Given the description of an element on the screen output the (x, y) to click on. 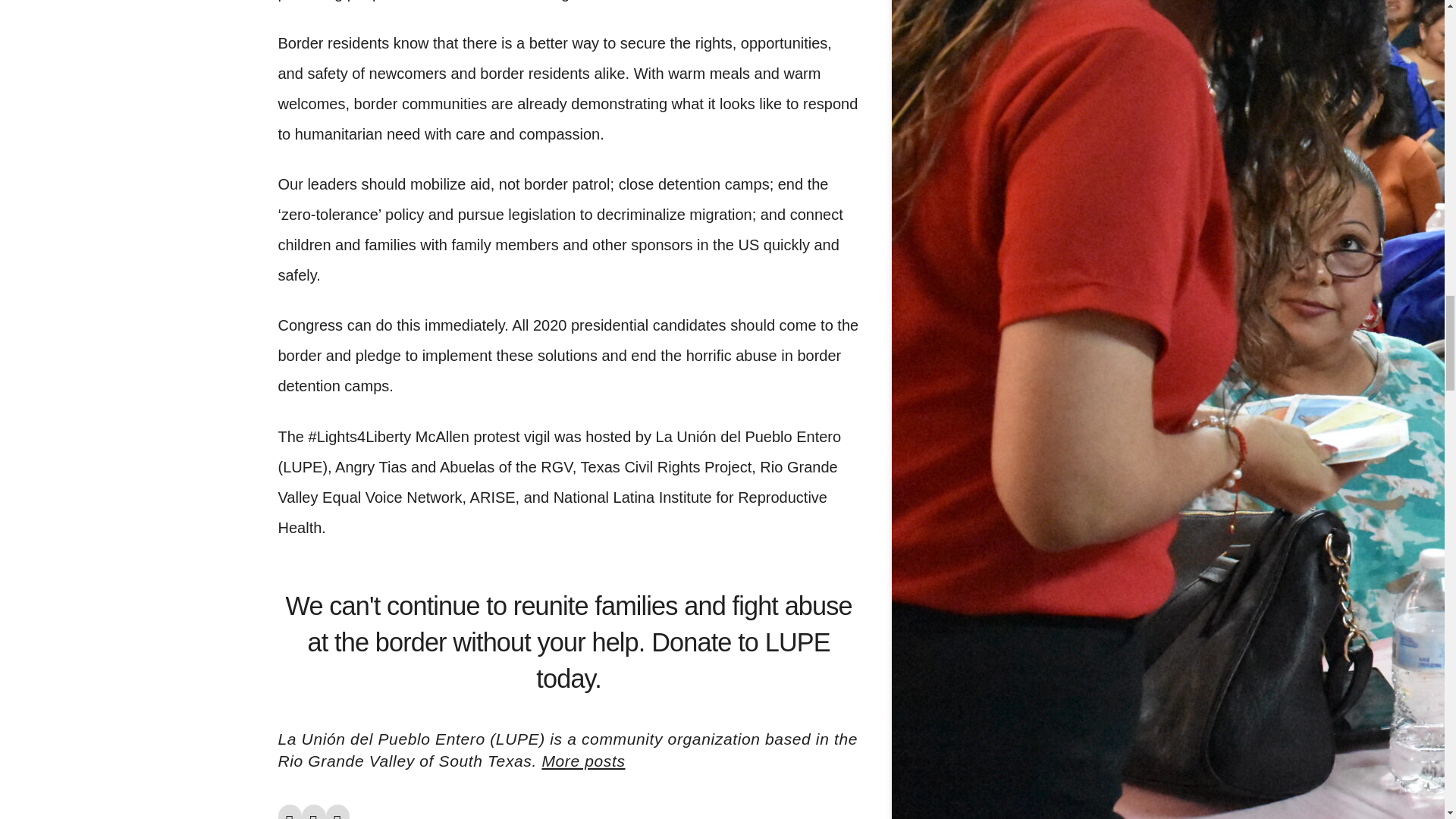
More posts (582, 760)
